Given the description of an element on the screen output the (x, y) to click on. 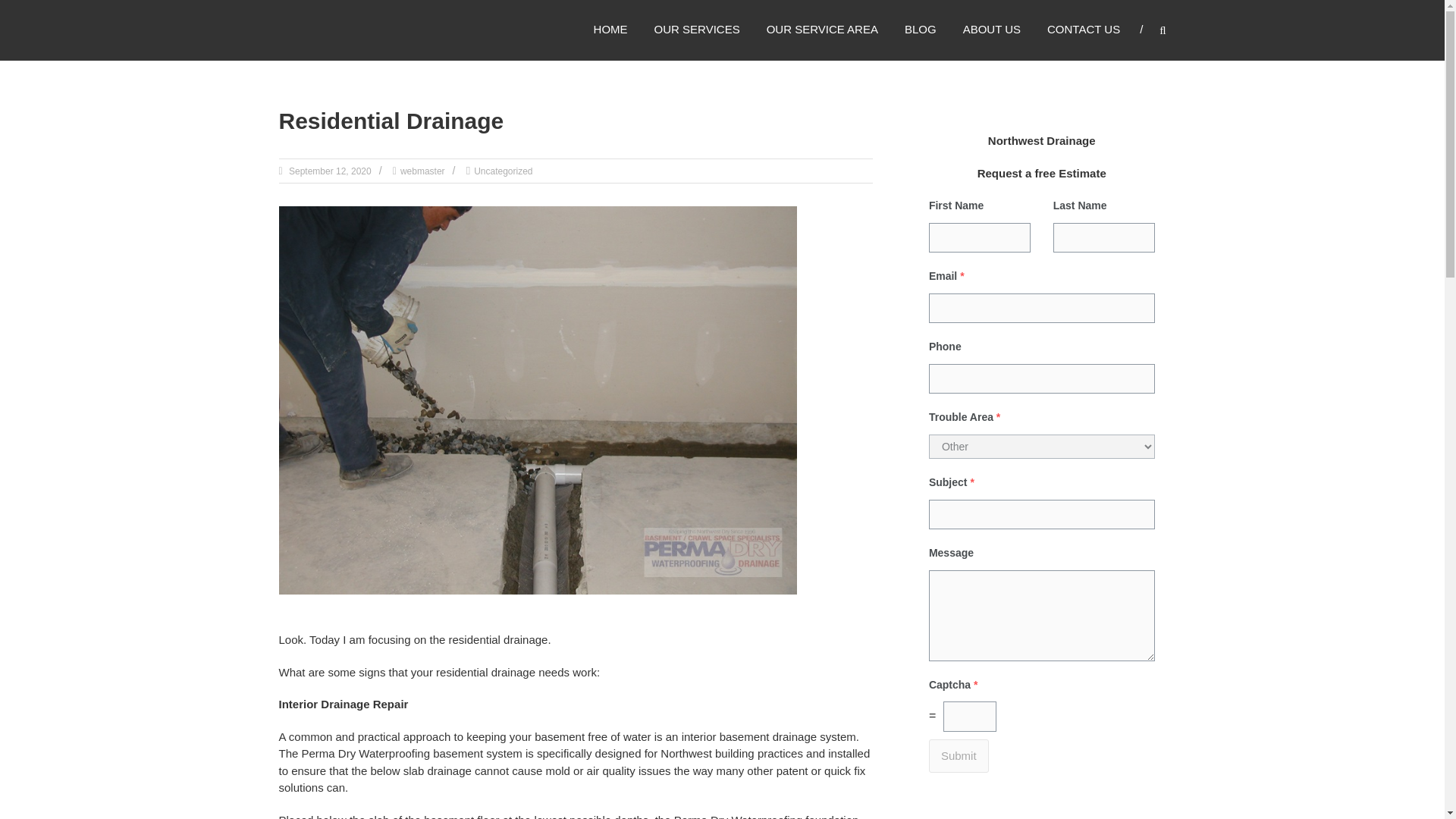
September 12, 2020 (328, 171)
9:50 pm (328, 171)
CONTACT US (1082, 29)
webmaster (422, 171)
ABOUT US (991, 29)
Submit (958, 756)
OUR SERVICE AREA (822, 29)
Search (1232, 409)
OUR SERVICES (696, 29)
